Given the description of an element on the screen output the (x, y) to click on. 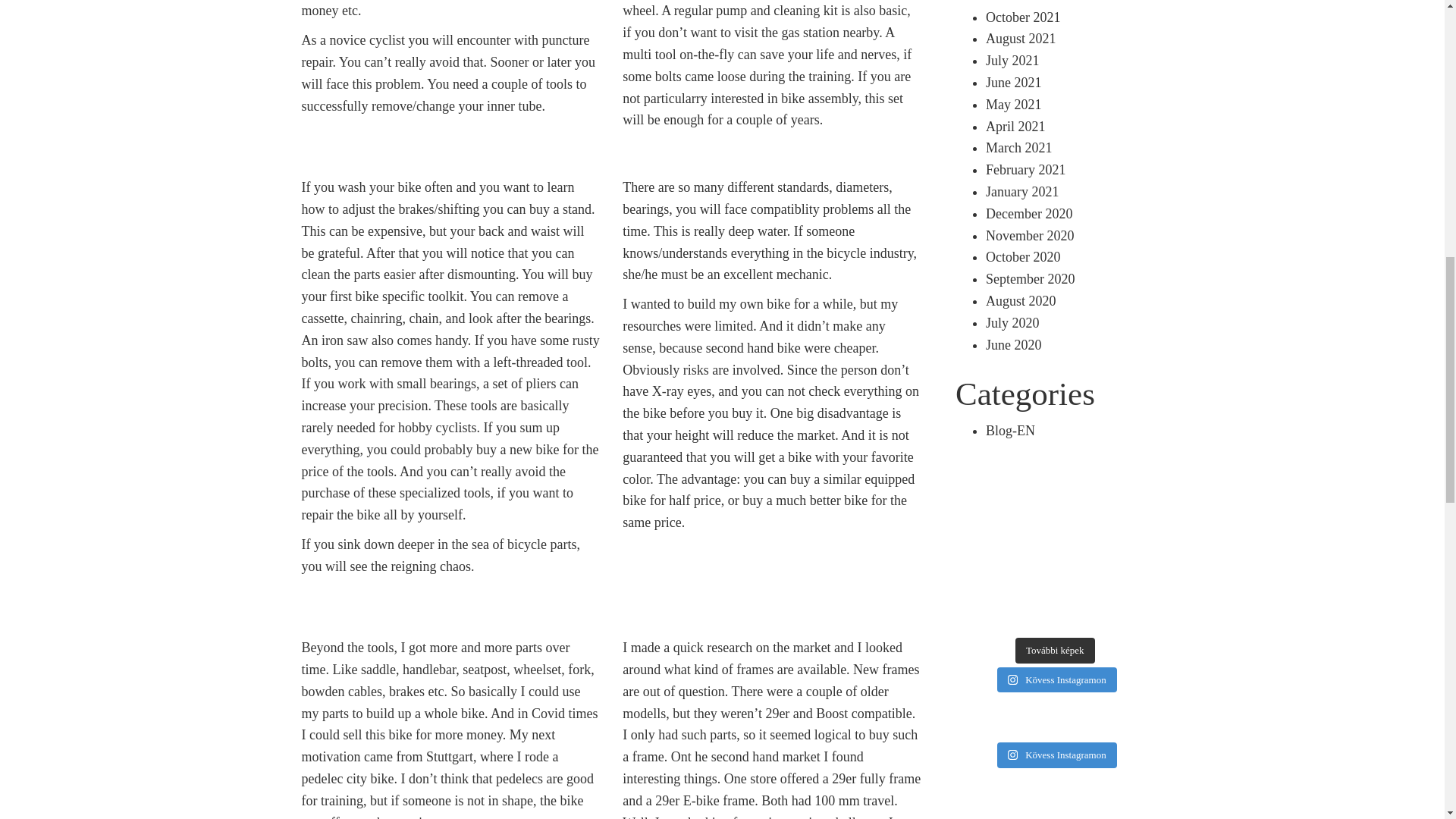
July 2021 (1012, 60)
November 2021 (1029, 1)
August 2021 (1021, 38)
June 2021 (1013, 82)
October 2021 (1022, 17)
May 2021 (1013, 104)
